Given the description of an element on the screen output the (x, y) to click on. 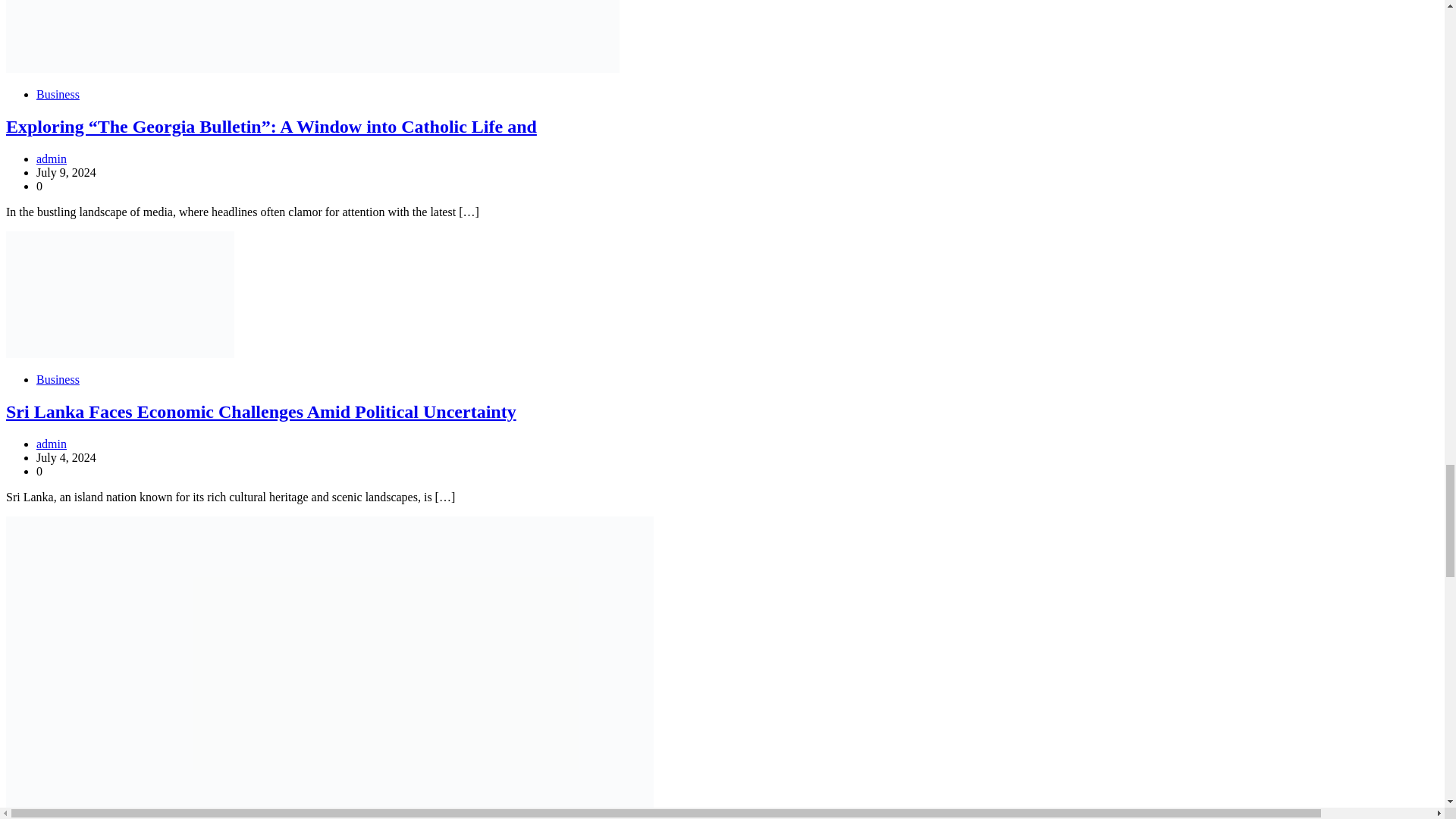
admin (51, 443)
Business (58, 379)
Business (58, 93)
admin (51, 158)
